Given the description of an element on the screen output the (x, y) to click on. 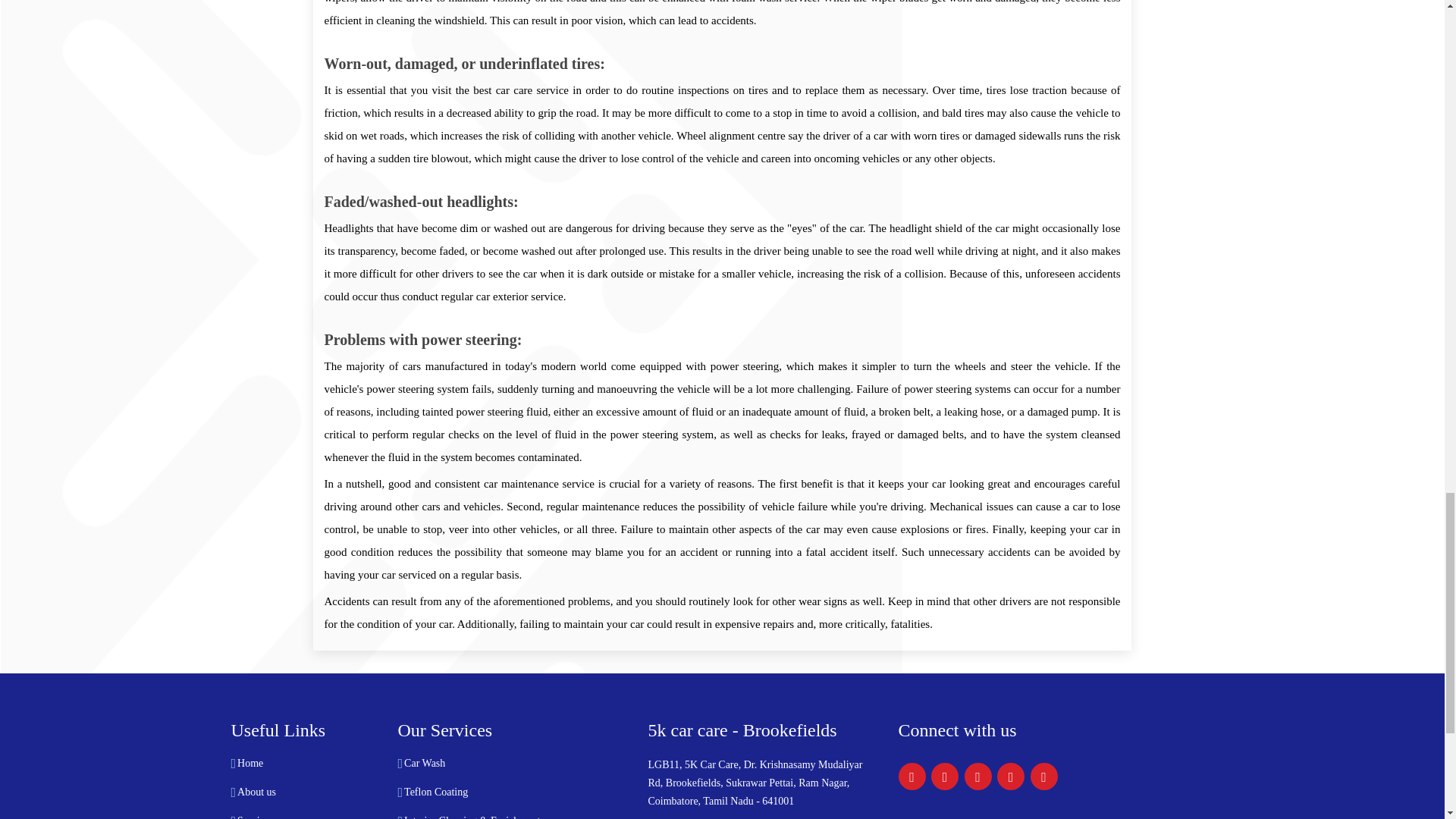
Home (250, 763)
Car Wash (424, 763)
Services (255, 817)
About us (256, 792)
Teflon Coating (435, 792)
